Given the description of an element on the screen output the (x, y) to click on. 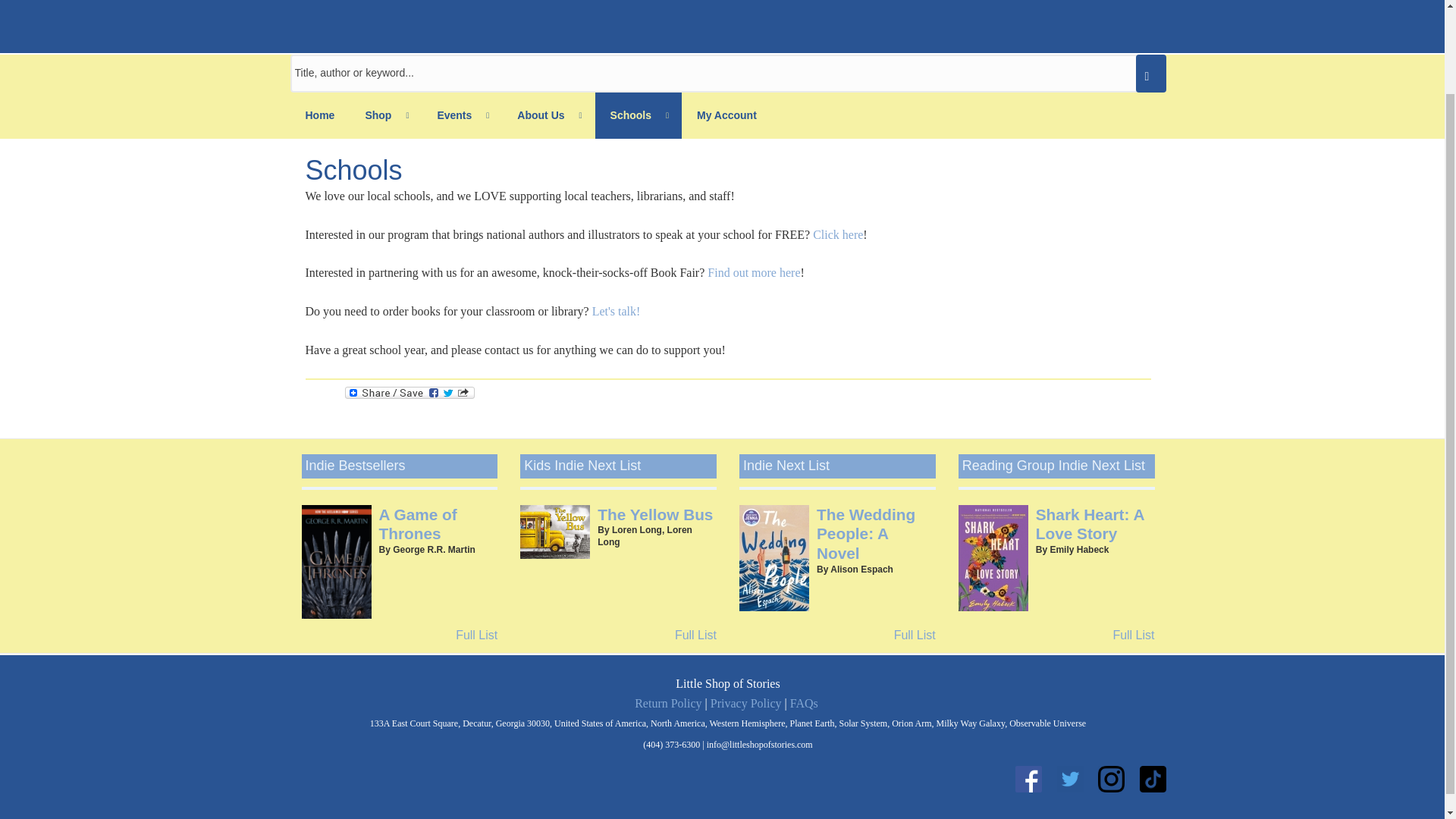
Events (462, 115)
About Us (548, 115)
The Yellow Bus - by Loren Long, Loren Long (554, 532)
The Wedding People: A Novel - by Alison Espach (865, 533)
Title, author or keyword... (727, 73)
Shop (385, 115)
Home (319, 115)
A Game of Thrones - by George R.R. Martin (417, 524)
The Yellow Bus - by Loren Long, Loren Long (654, 514)
